Given the description of an element on the screen output the (x, y) to click on. 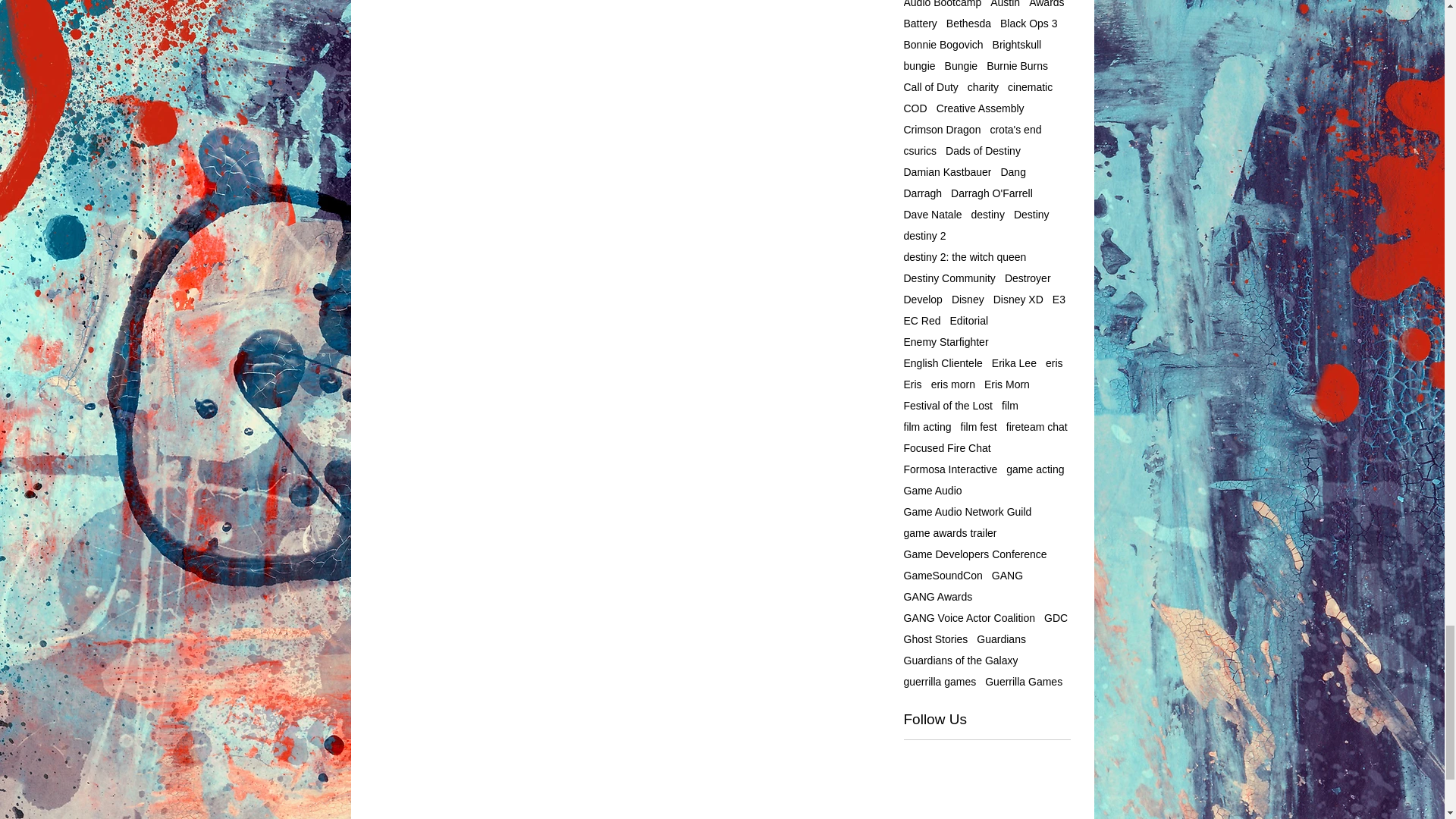
RSS Feed (473, 702)
